Given the description of an element on the screen output the (x, y) to click on. 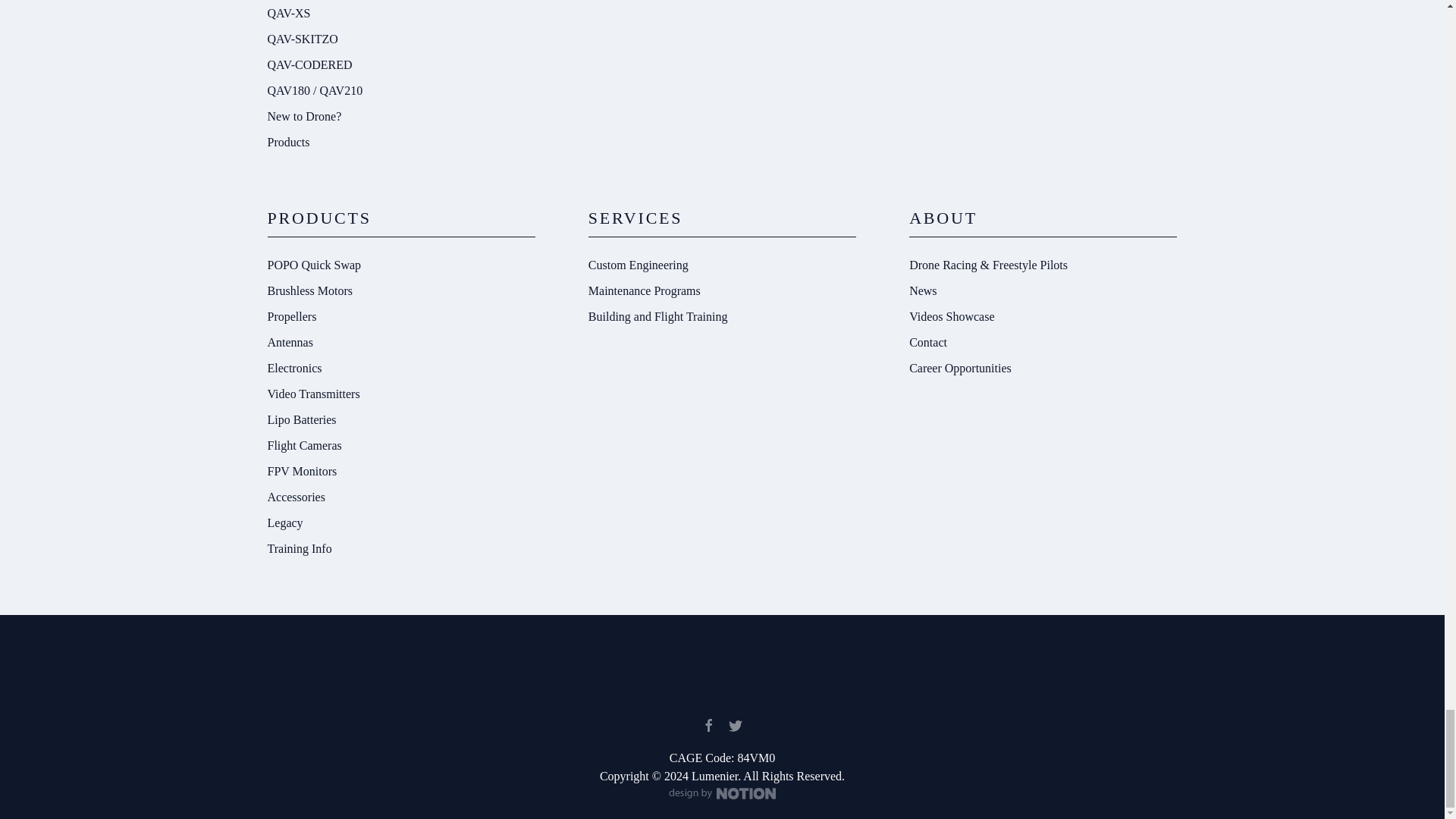
Notion Design Group (721, 795)
NOTION Design Group (721, 793)
